Given the description of an element on the screen output the (x, y) to click on. 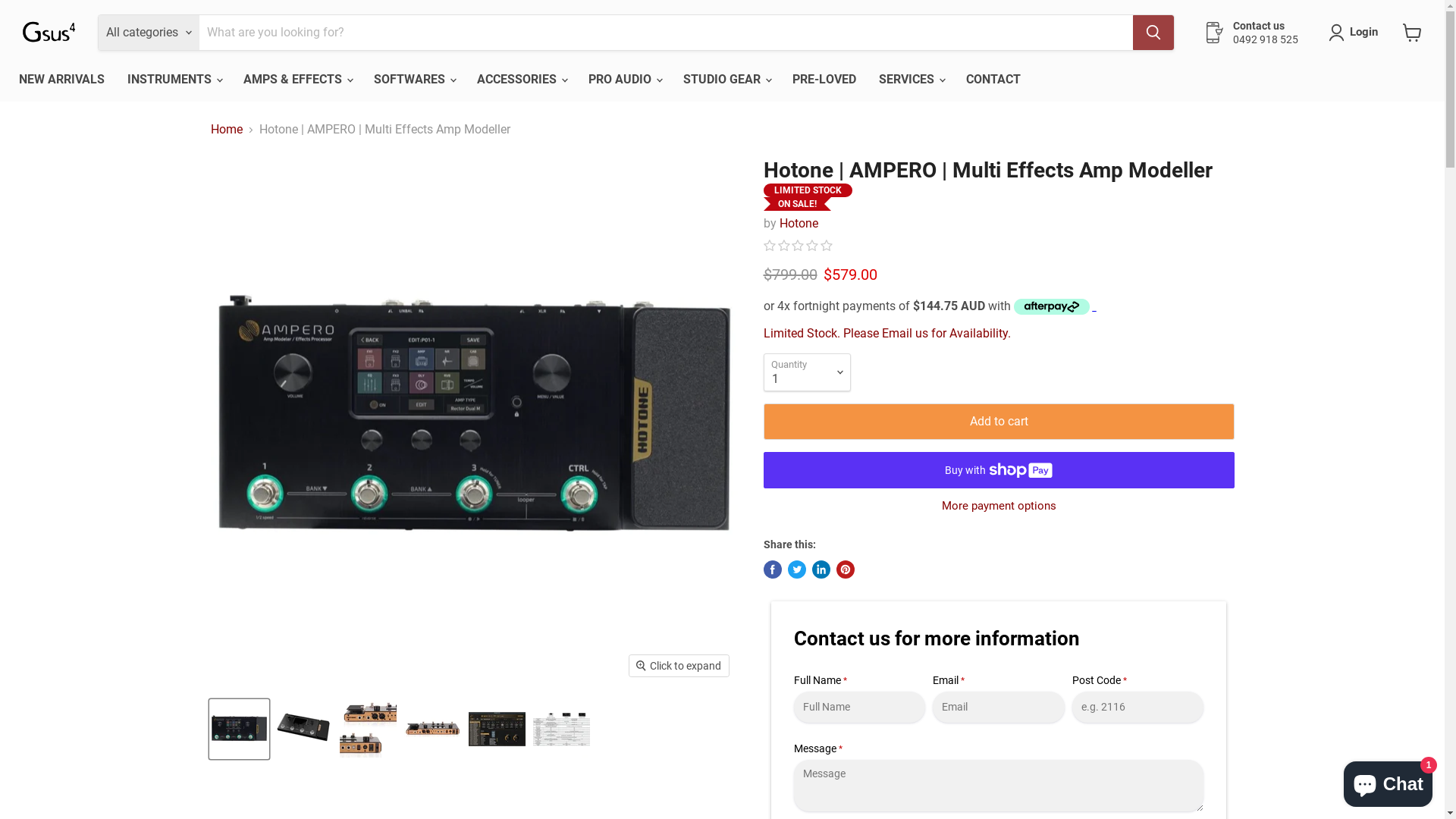
Limited Stock. Please Email us for Availability. Element type: text (886, 333)
Tweet on Twitter Element type: text (796, 569)
PRO AUDIO Element type: text (624, 79)
Click to expand Element type: text (678, 665)
INSTRUMENTS Element type: text (174, 79)
PRE-LOVED Element type: text (824, 79)
STUDIO GEAR Element type: text (726, 79)
NEW ARRIVALS Element type: text (61, 79)
Shopify online store chat Element type: hover (1388, 780)
Home Element type: text (226, 129)
Login Element type: text (1363, 32)
CONTACT Element type: text (993, 79)
ACCESSORIES Element type: text (521, 79)
View cart Element type: text (1412, 32)
Hotone Element type: text (798, 223)
More payment options Element type: text (997, 505)
Contact us
0492 918 525 Element type: text (1251, 32)
SOFTWARES Element type: text (413, 79)
Add to cart Element type: text (997, 421)
Share on Facebook Element type: text (771, 569)
Pin on Pinterest Element type: text (844, 569)
Share on LinkedIn Element type: text (820, 569)
SERVICES Element type: text (910, 79)
AMPS & EFFECTS Element type: text (297, 79)
